Given the description of an element on the screen output the (x, y) to click on. 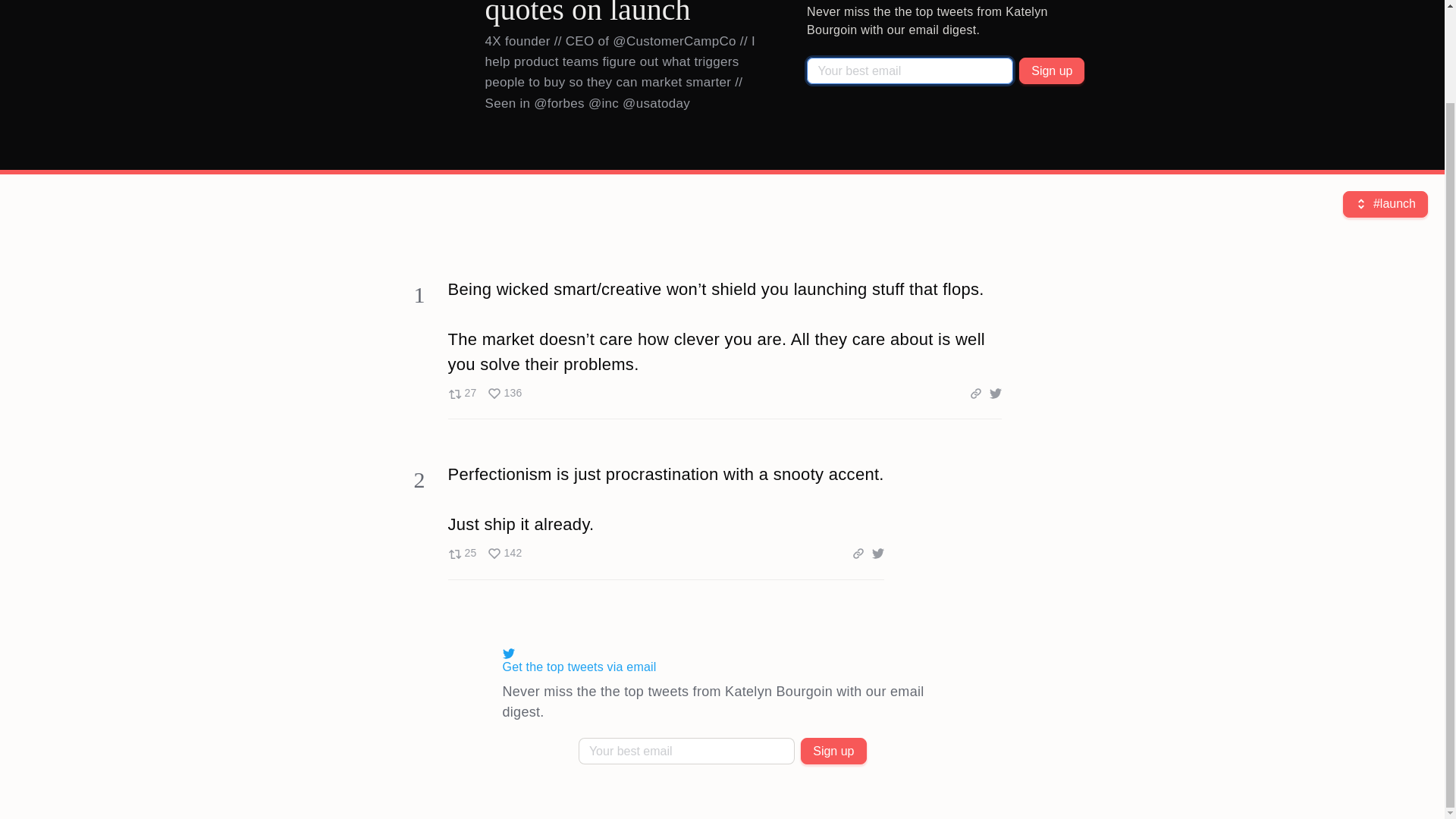
Sign up (483, 393)
Sign up (1051, 70)
